Given the description of an element on the screen output the (x, y) to click on. 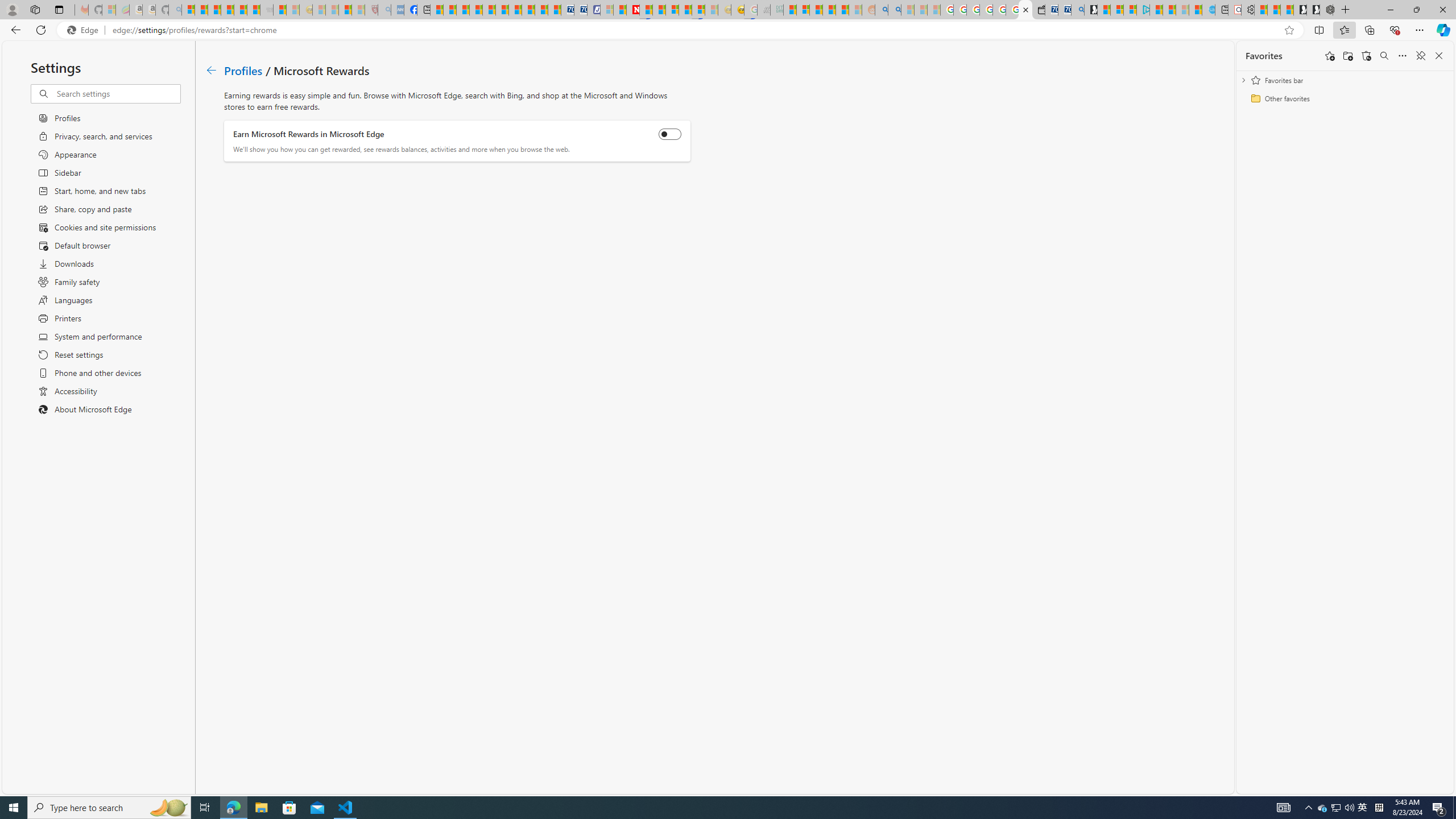
Go back to Profiles page. (210, 70)
World - MSN (462, 9)
Wallet (1037, 9)
Bing Real Estate - Home sales and rental listings (1077, 9)
New Report Confirms 2023 Was Record Hot | Watch (239, 9)
